Given the description of an element on the screen output the (x, y) to click on. 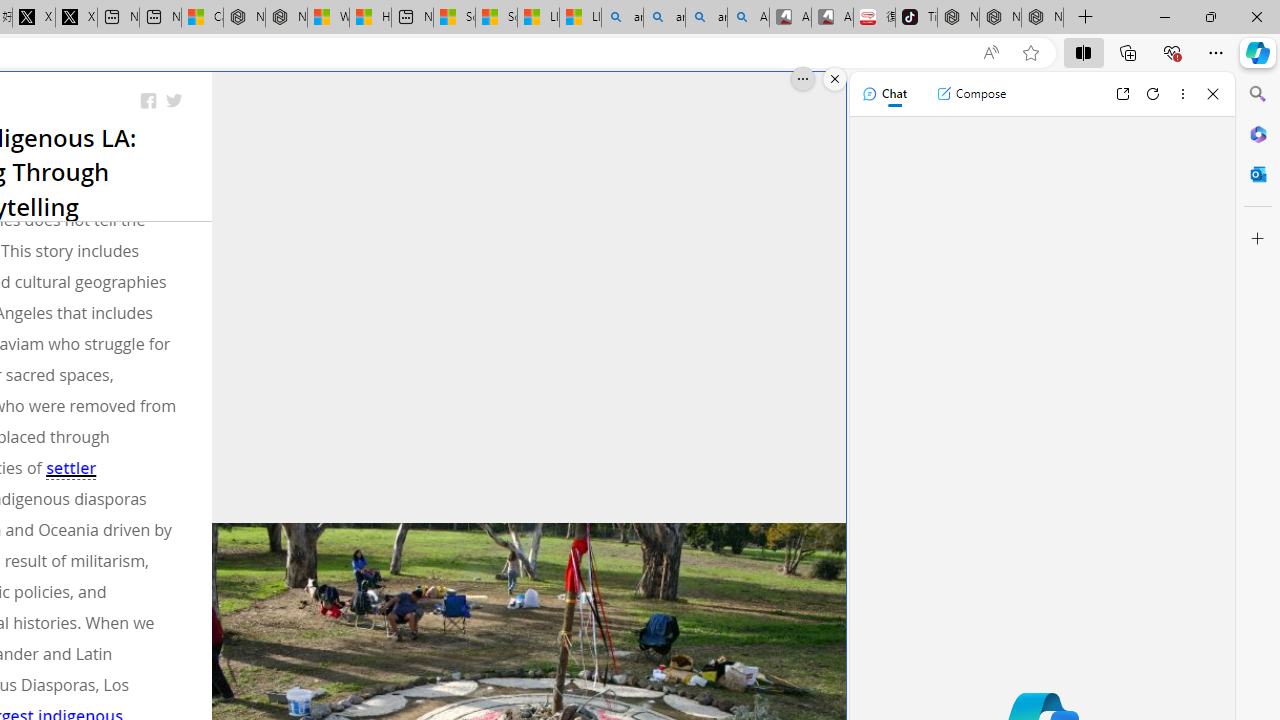
Compose (971, 93)
Nordace - Siena Pro 15 Essential Set (1042, 17)
